Given the description of an element on the screen output the (x, y) to click on. 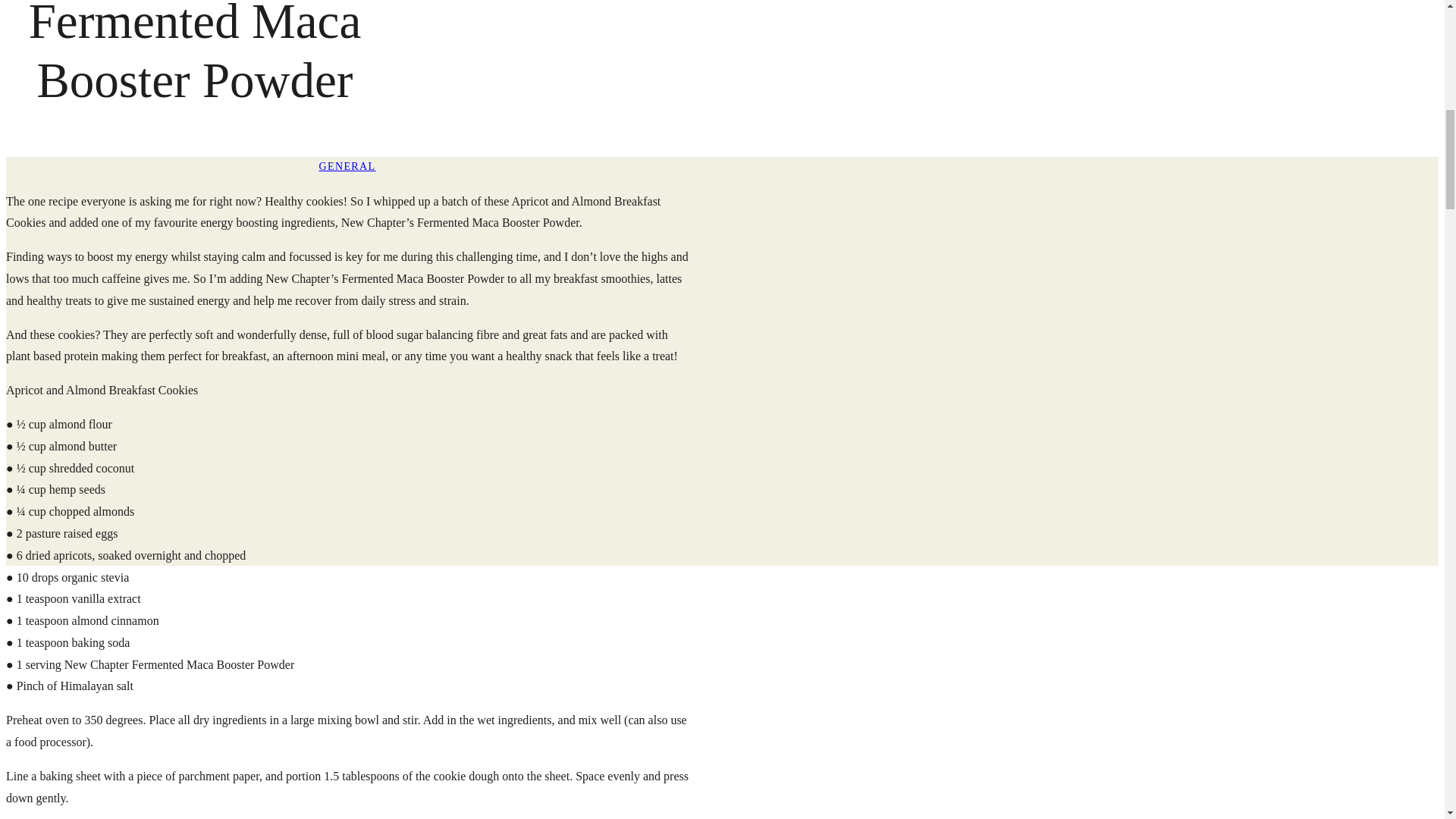
GENERAL (346, 165)
